Given the description of an element on the screen output the (x, y) to click on. 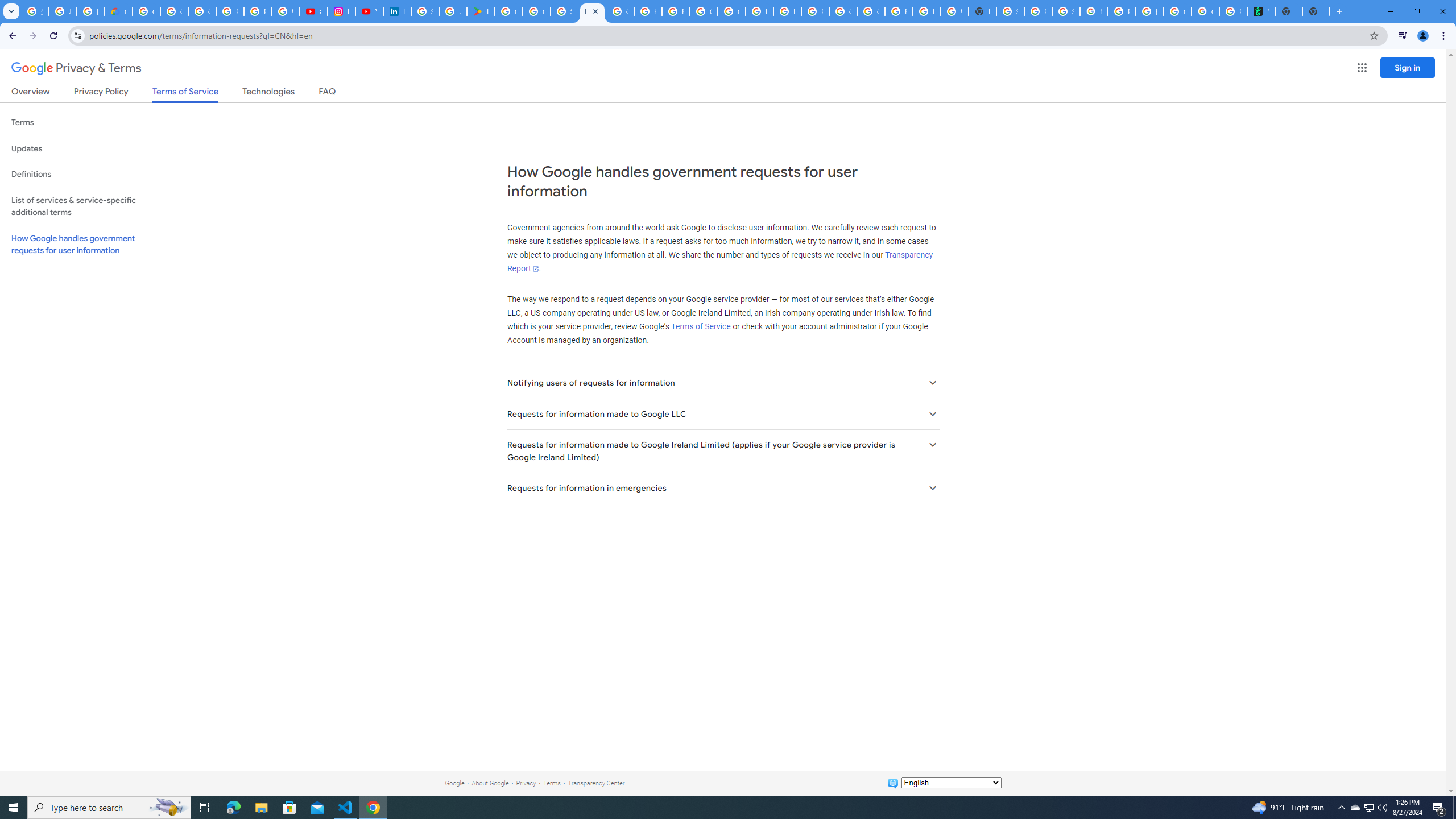
Browse Chrome as a guest - Computer - Google Chrome Help (898, 11)
Google Cloud Platform (870, 11)
Transparency Center (595, 783)
Browse Chrome as a guest - Computer - Google Chrome Help (759, 11)
